Given the description of an element on the screen output the (x, y) to click on. 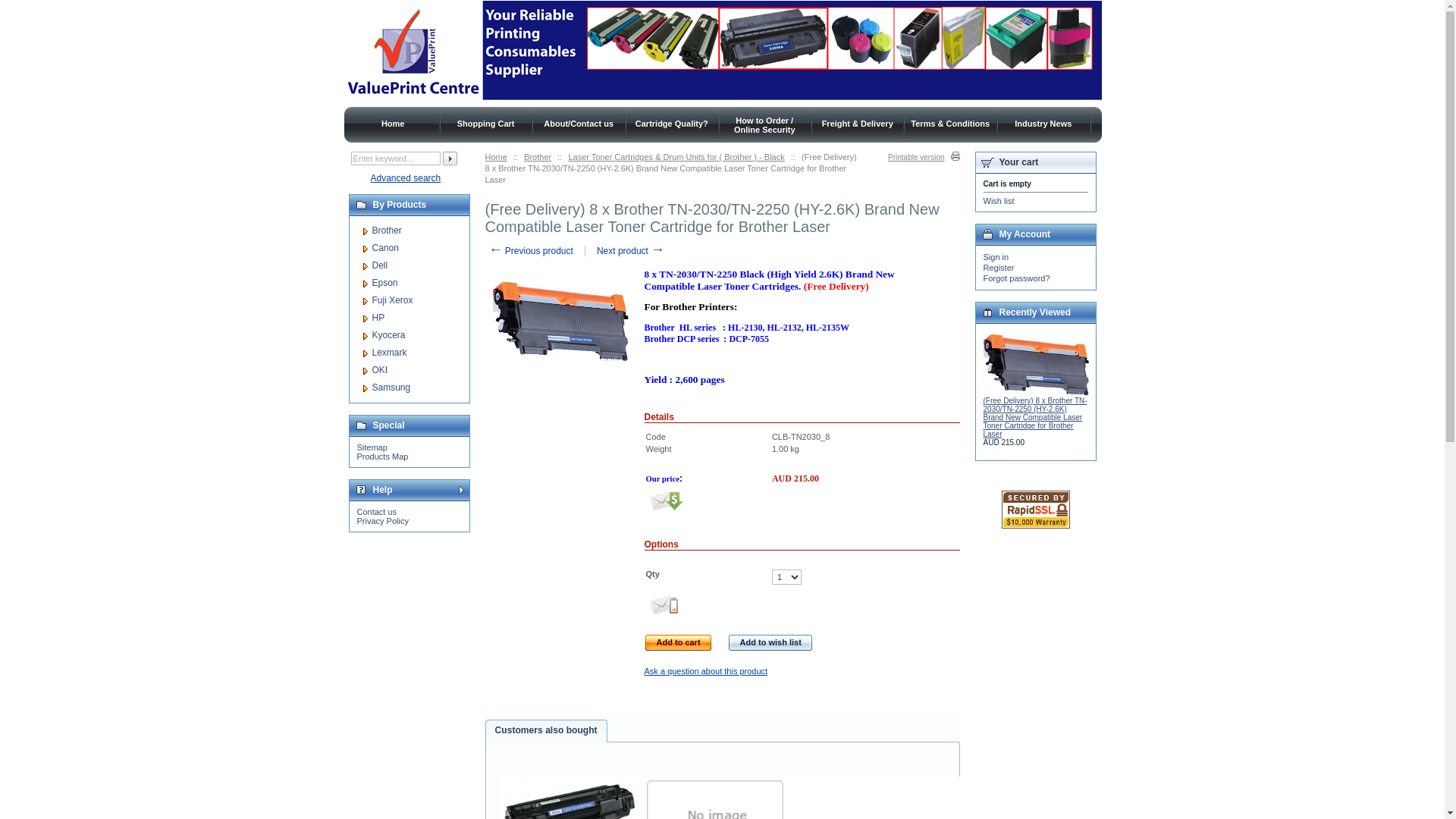
Add to wish list Element type: text (770, 642)
Privacy Policy Element type: text (381, 520)
How to Order / Online Security Element type: text (764, 124)
Kyocera Element type: text (387, 334)
Products Map Element type: text (381, 456)
Home Element type: text (392, 123)
Industry News Element type: text (1042, 123)
Samsung Element type: text (390, 387)
Add to cart Element type: text (678, 642)
Fuji Xerox Element type: text (391, 299)
Freight & Delivery Element type: text (857, 123)
Laser Toner Cartridges & Drum Units for ( Brother ) - Black Element type: text (675, 156)
Cartridge Quality? Element type: text (671, 123)
Brother Element type: text (386, 230)
Contact us Element type: text (376, 511)
Printable version Element type: text (923, 157)
Customers also bought Element type: text (545, 730)
Dell Element type: text (379, 265)
HP Element type: text (377, 317)
Brother Element type: text (537, 156)
Canon Element type: text (384, 247)
Register Element type: text (997, 267)
Home Element type: text (496, 156)
Sign in Element type: text (995, 256)
Wish list Element type: text (997, 200)
Lexmark Element type: text (388, 352)
Forgot password? Element type: text (1015, 277)
OKI Element type: text (379, 369)
Ask a question about this product Element type: text (706, 670)
Shopping Cart Element type: text (485, 123)
Epson Element type: text (384, 282)
Terms & Conditions Element type: text (949, 123)
Sitemap Element type: text (371, 446)
Advanced search Element type: text (405, 177)
About/Contact us Element type: text (578, 123)
